Given the description of an element on the screen output the (x, y) to click on. 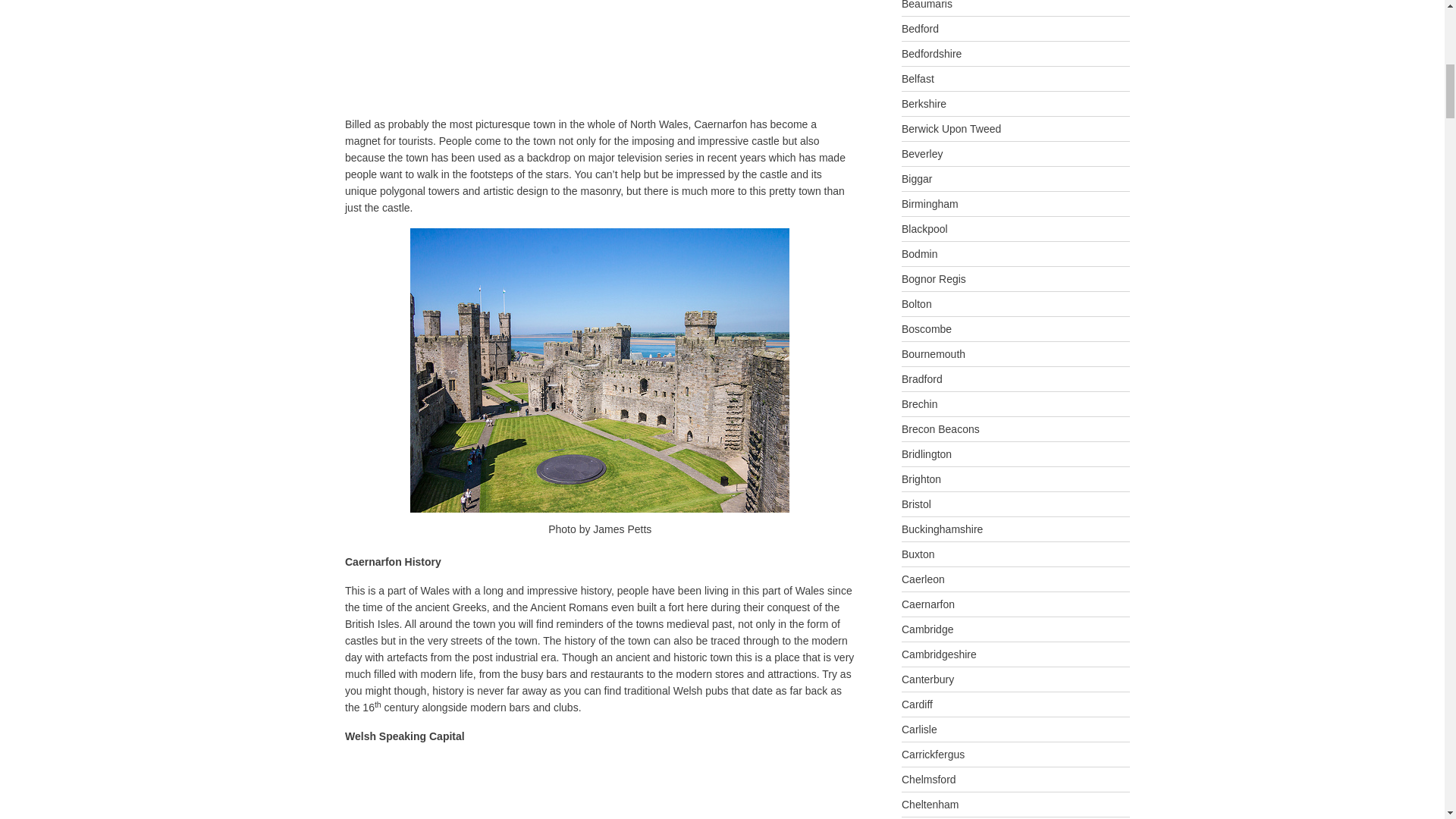
Advertisement (472, 787)
Advertisement (472, 55)
